Given the description of an element on the screen output the (x, y) to click on. 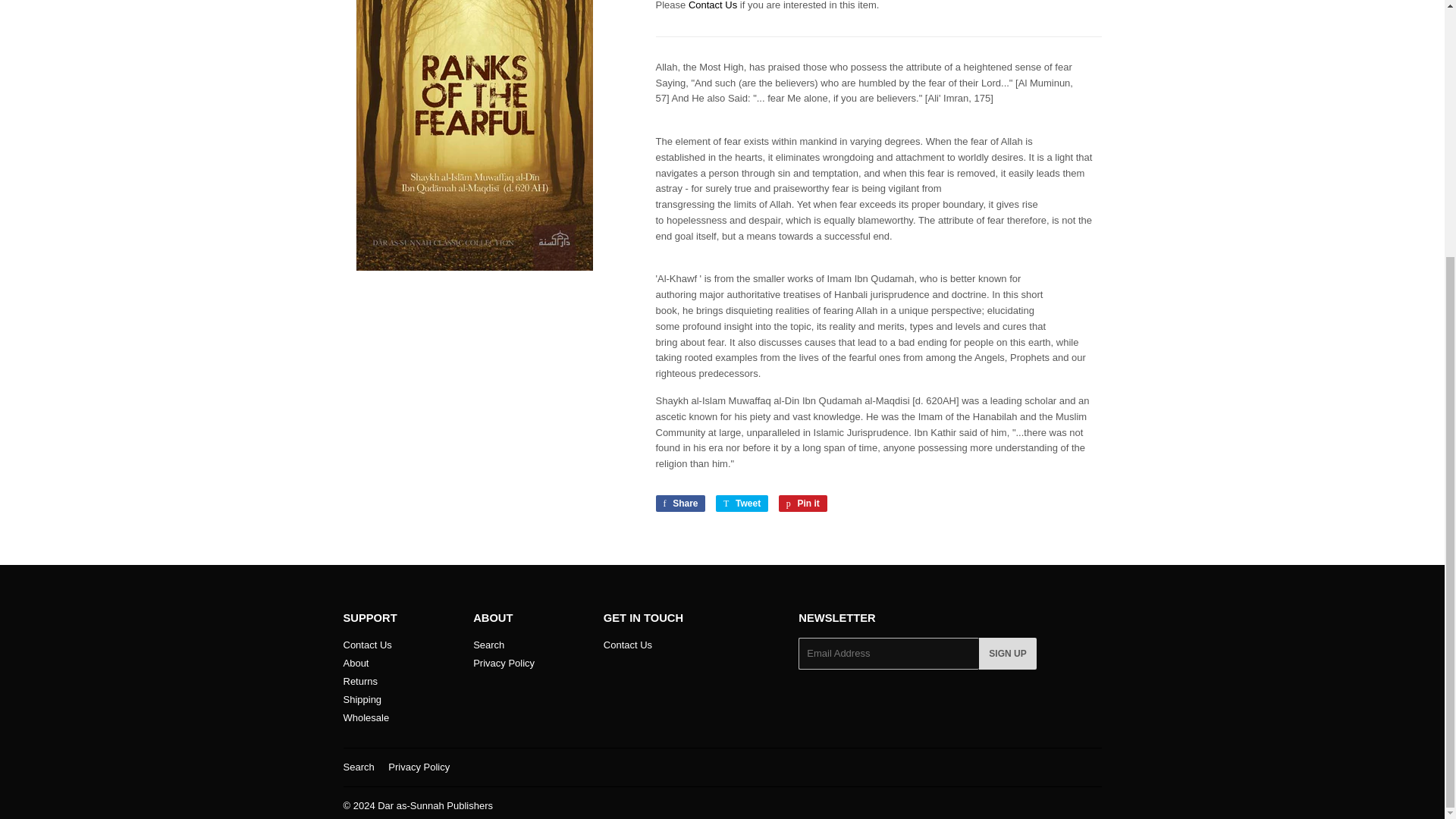
Tweet on Twitter (742, 503)
Pin on Pinterest (802, 503)
Search (358, 767)
Contact Us (679, 503)
SIGN UP (628, 644)
Returns (1006, 653)
Wholesale (742, 503)
Dar as-Sunnah Publishers (359, 681)
Contact Us (802, 503)
Shipping (365, 717)
Search (435, 805)
Contact Us (628, 644)
